Given the description of an element on the screen output the (x, y) to click on. 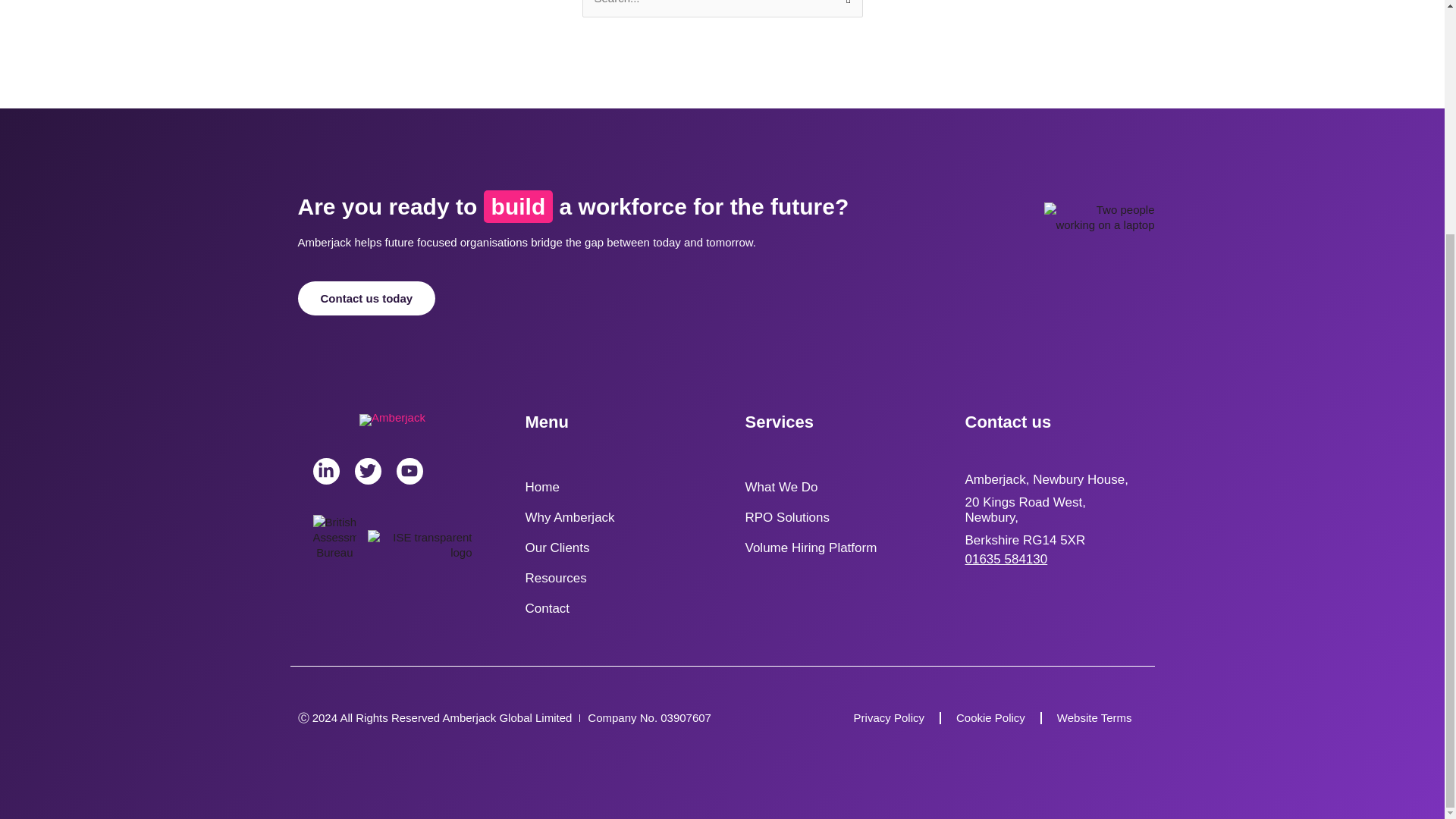
Search (844, 4)
Search (844, 4)
